Given the description of an element on the screen output the (x, y) to click on. 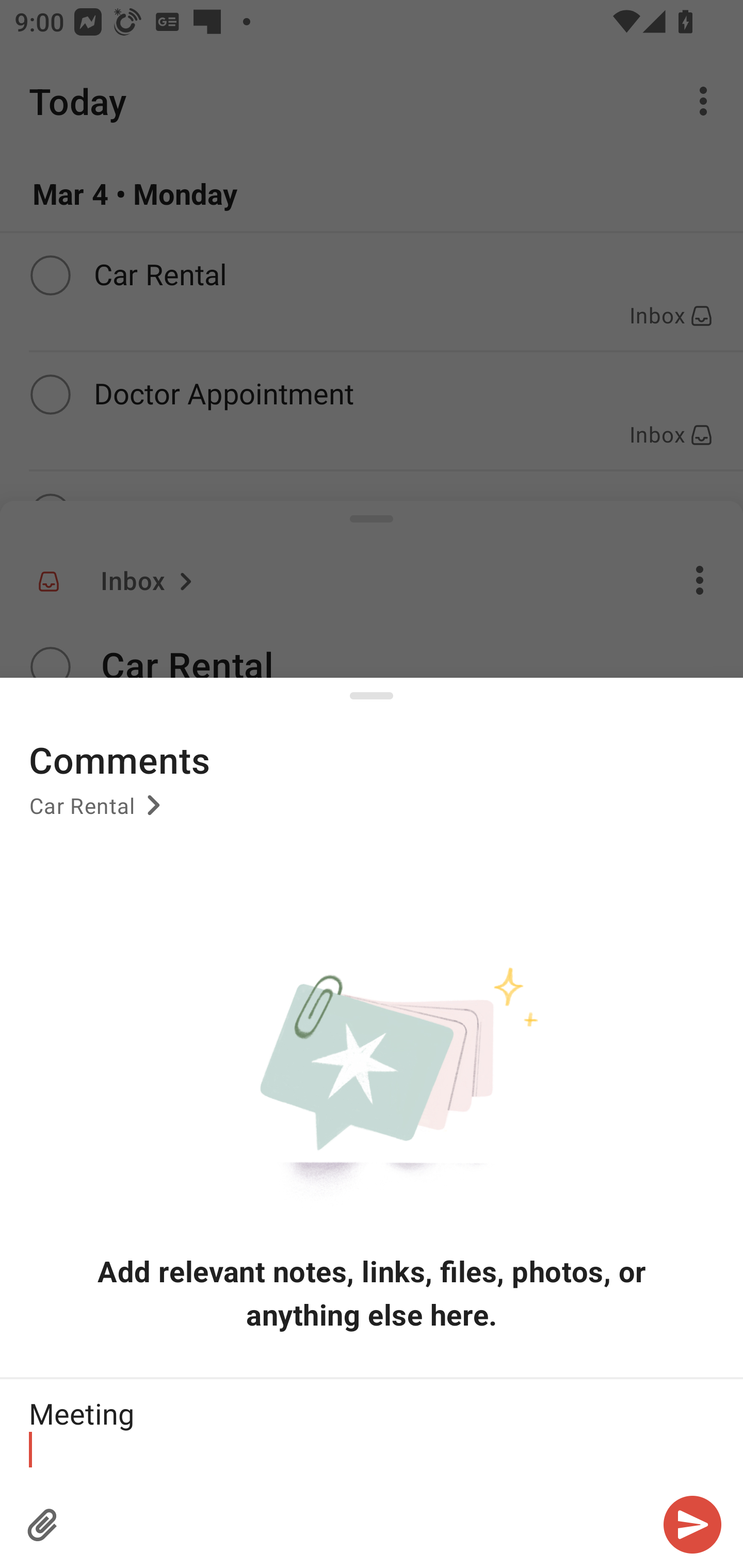
Car Rental (97, 813)
Meeting
 (371, 1430)
Attachment (43, 1524)
Submit (692, 1524)
